Given the description of an element on the screen output the (x, y) to click on. 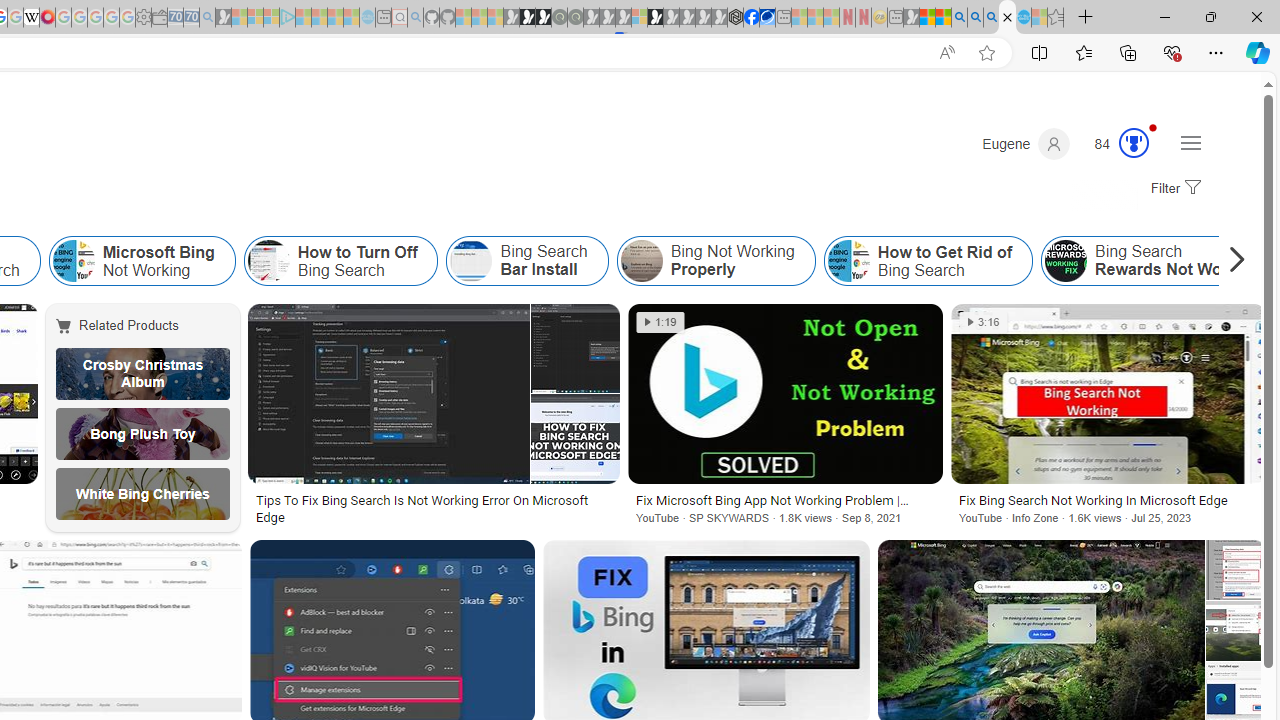
Bong Plush Toy (143, 434)
Bing Not Working Properly (641, 260)
3:16 (982, 322)
2009 Bing officially replaced Live Search on June 3 - Search (975, 17)
Filter (1173, 189)
MediaWiki (47, 17)
